Given the description of an element on the screen output the (x, y) to click on. 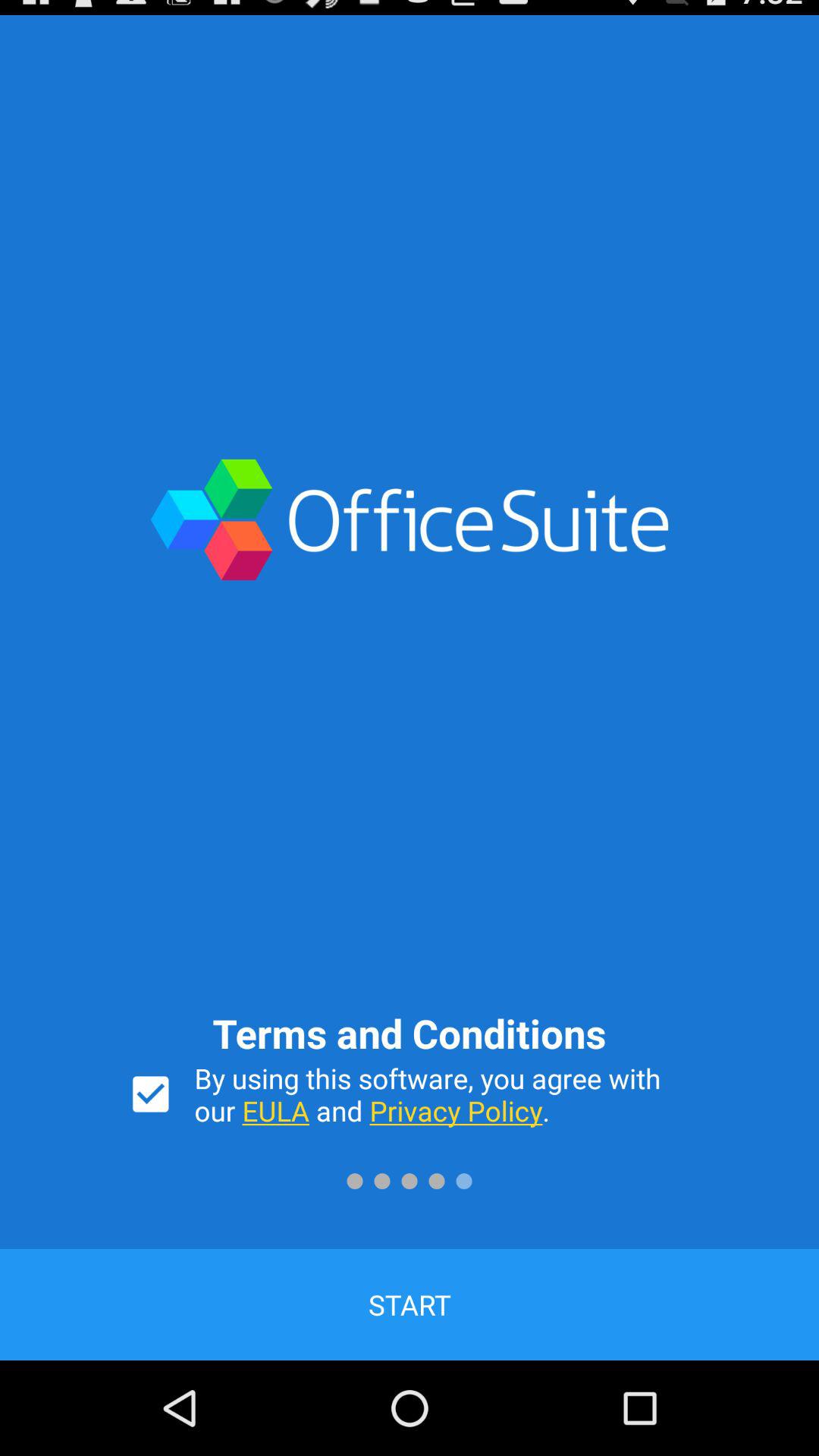
press the start item (409, 1304)
